Given the description of an element on the screen output the (x, y) to click on. 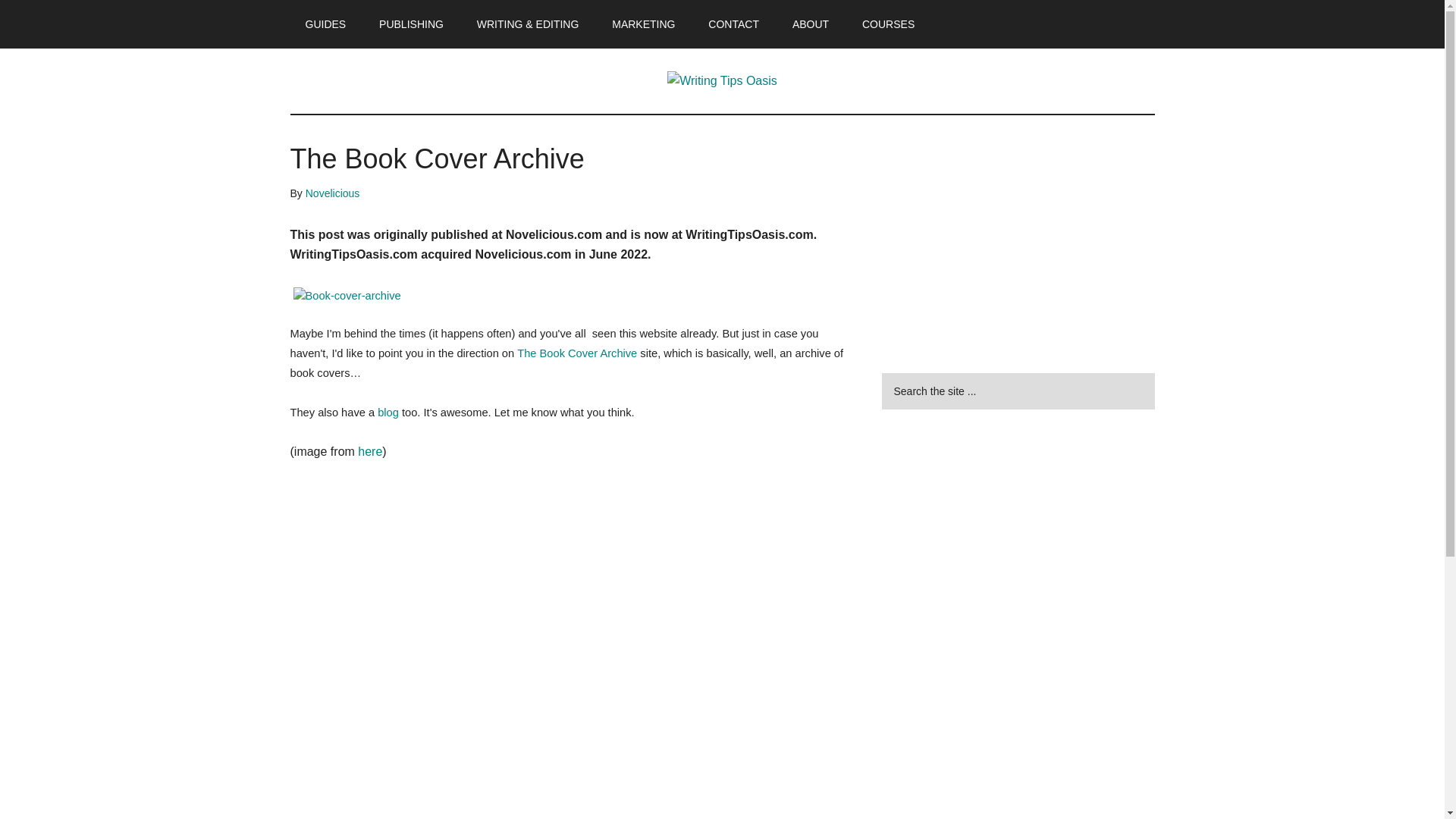
The Book Cover Archive (576, 353)
PUBLISHING (411, 24)
Novelicious (332, 193)
MARKETING (643, 24)
CONTACT (733, 24)
blog (387, 412)
ABOUT (810, 24)
Book-cover-archive (346, 296)
GUIDES (325, 24)
here (369, 451)
COURSES (888, 24)
